Given the description of an element on the screen output the (x, y) to click on. 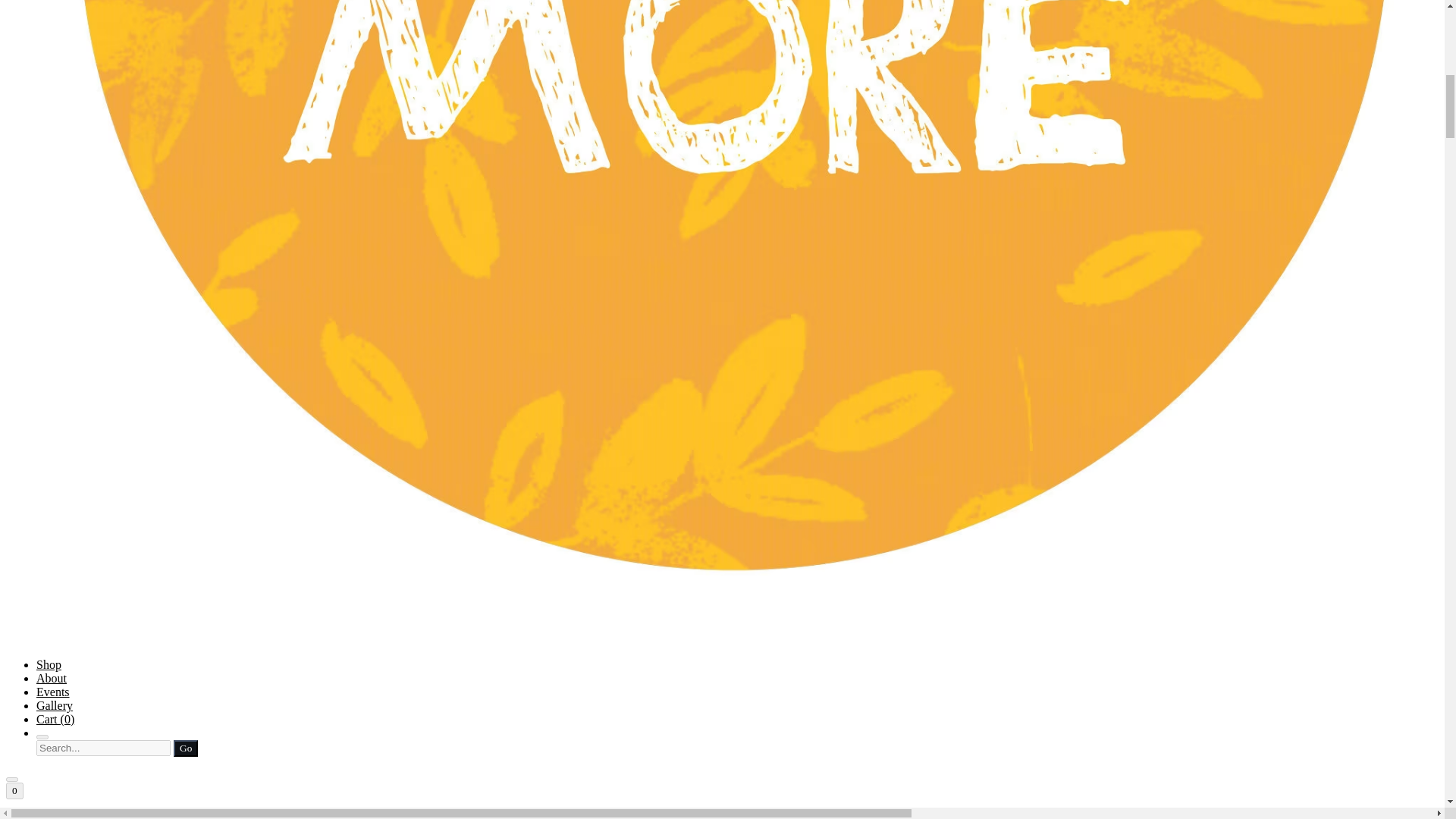
Shop (48, 664)
Go (185, 748)
Gallery (54, 705)
0 (14, 790)
Events (52, 691)
Go (185, 748)
About (51, 677)
